Given the description of an element on the screen output the (x, y) to click on. 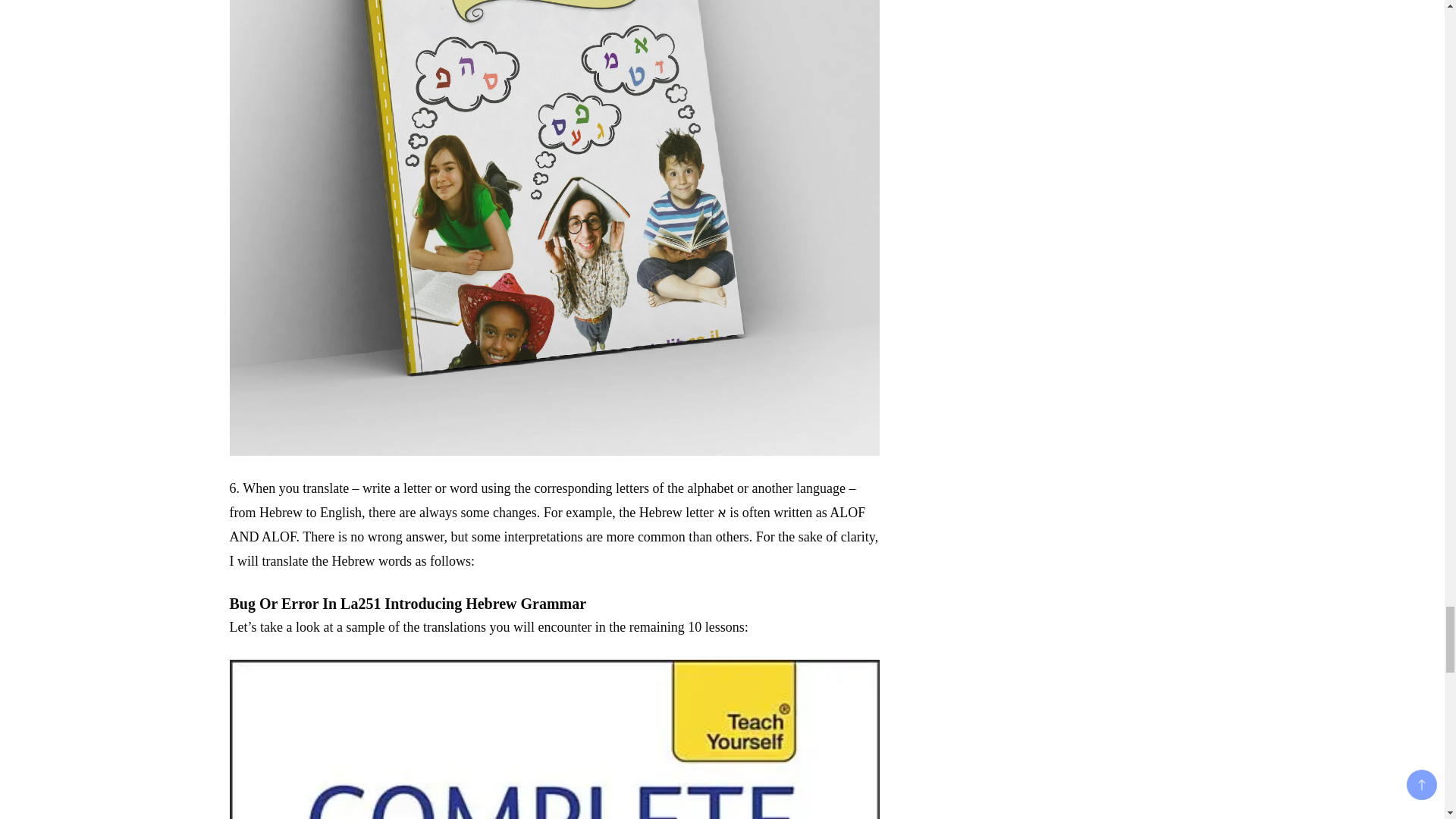
Learn To Read In Hebrew (553, 739)
